Given the description of an element on the screen output the (x, y) to click on. 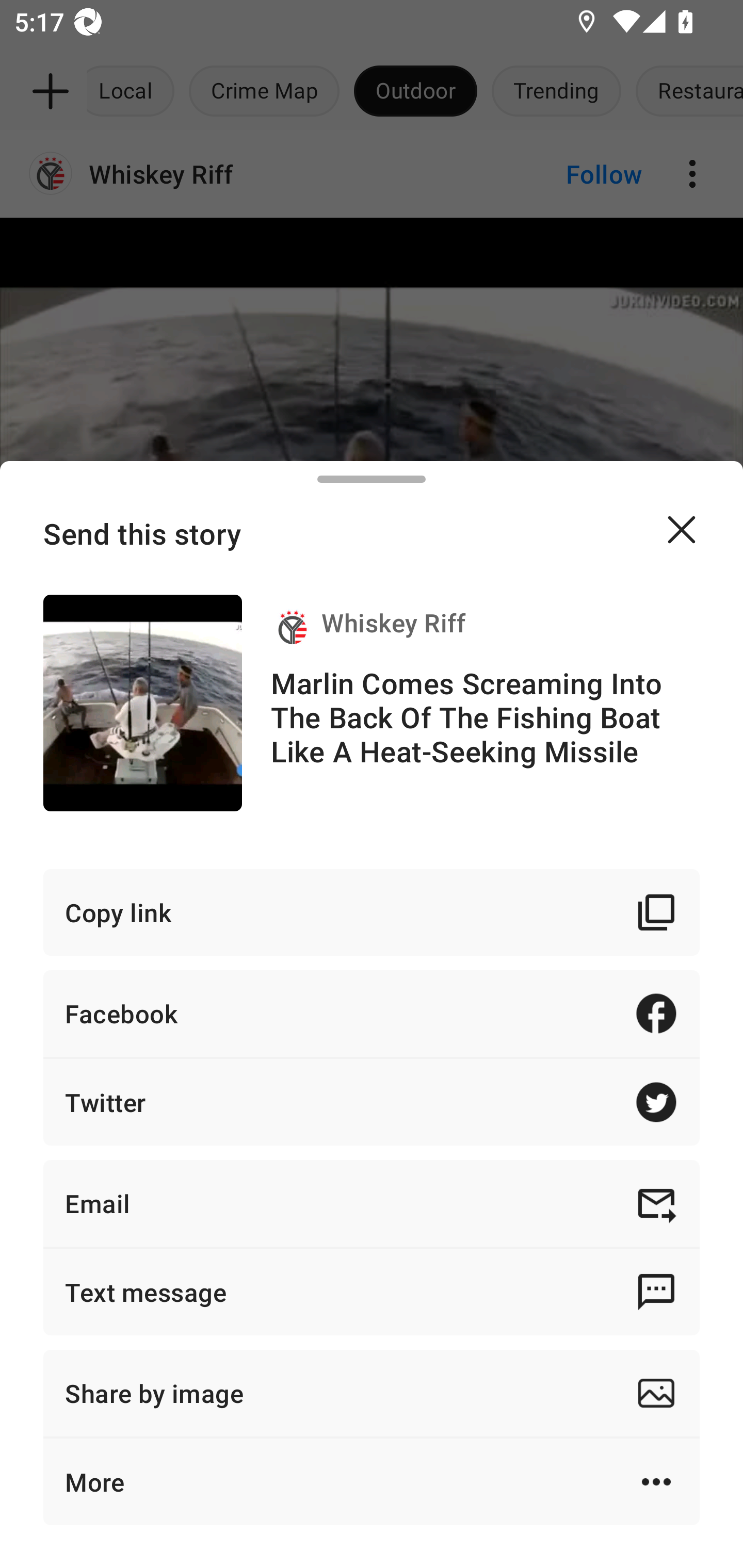
Copy link (371, 912)
Facebook (371, 1013)
Twitter (371, 1102)
Email (371, 1203)
Text message (371, 1291)
Share by image (371, 1393)
More (371, 1481)
